Given the description of an element on the screen output the (x, y) to click on. 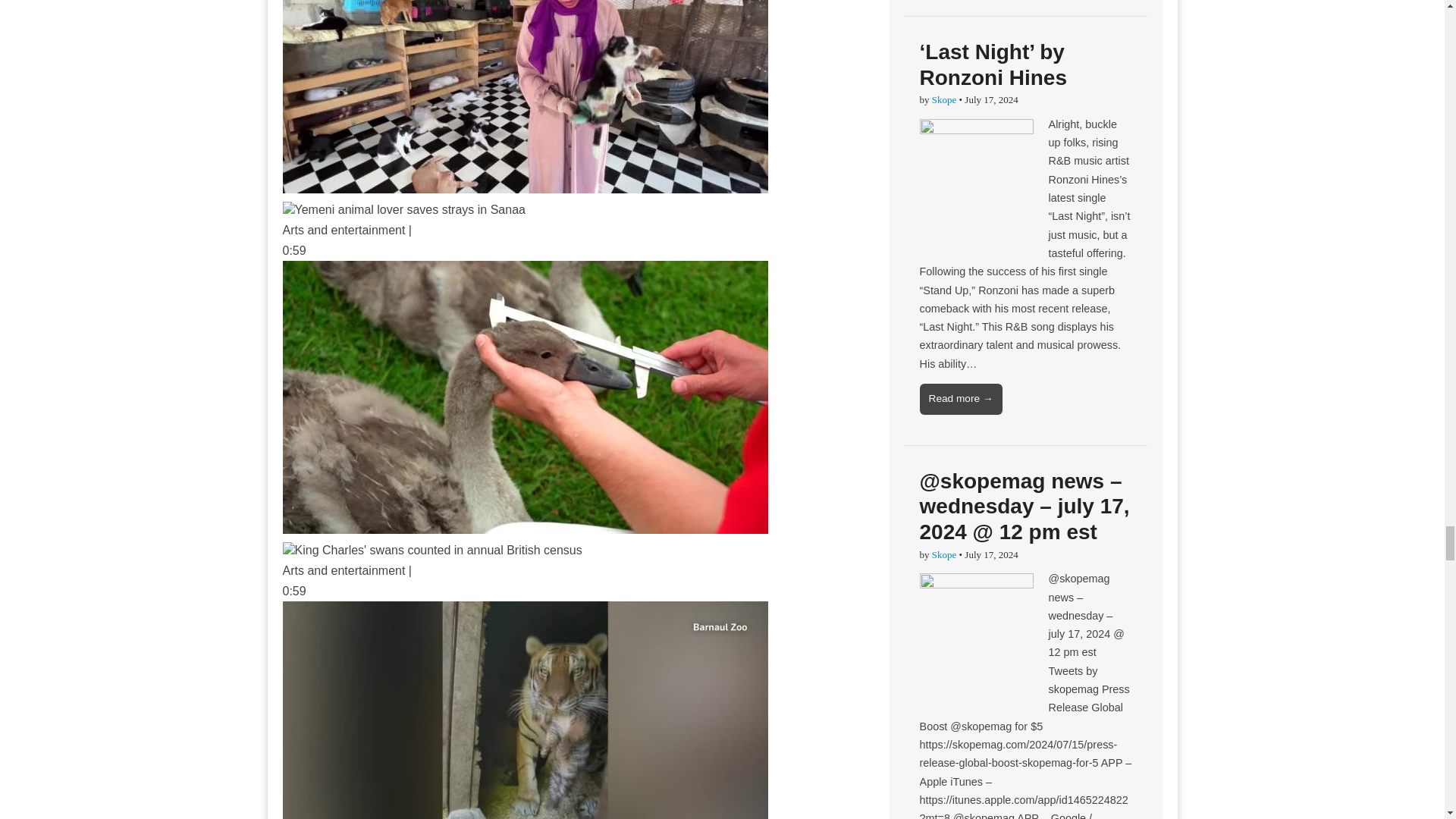
Posts by Skope (943, 554)
Posts by Skope (943, 99)
